Given the description of an element on the screen output the (x, y) to click on. 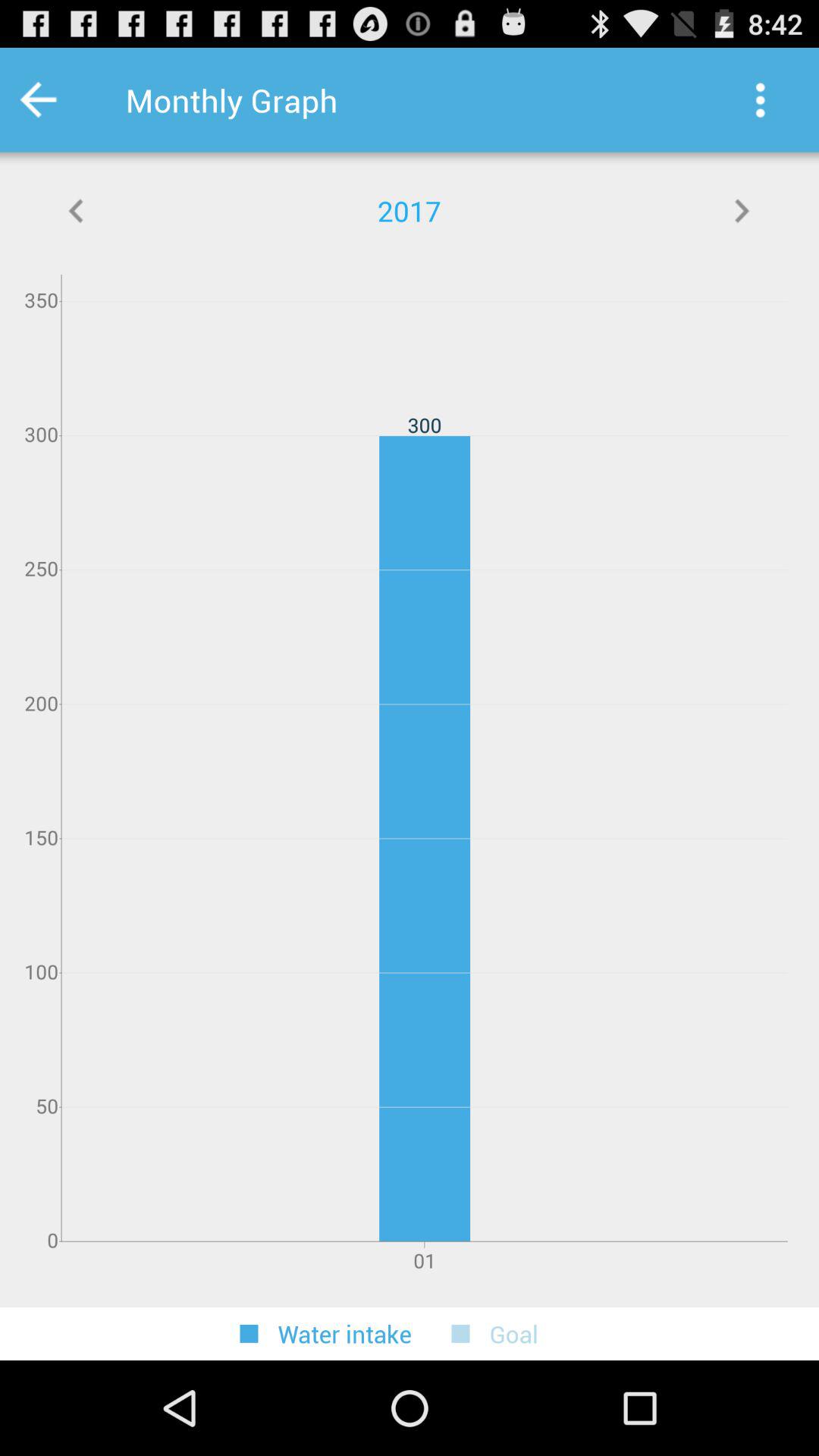
select the item to the right of the monthly graph app (760, 100)
